Given the description of an element on the screen output the (x, y) to click on. 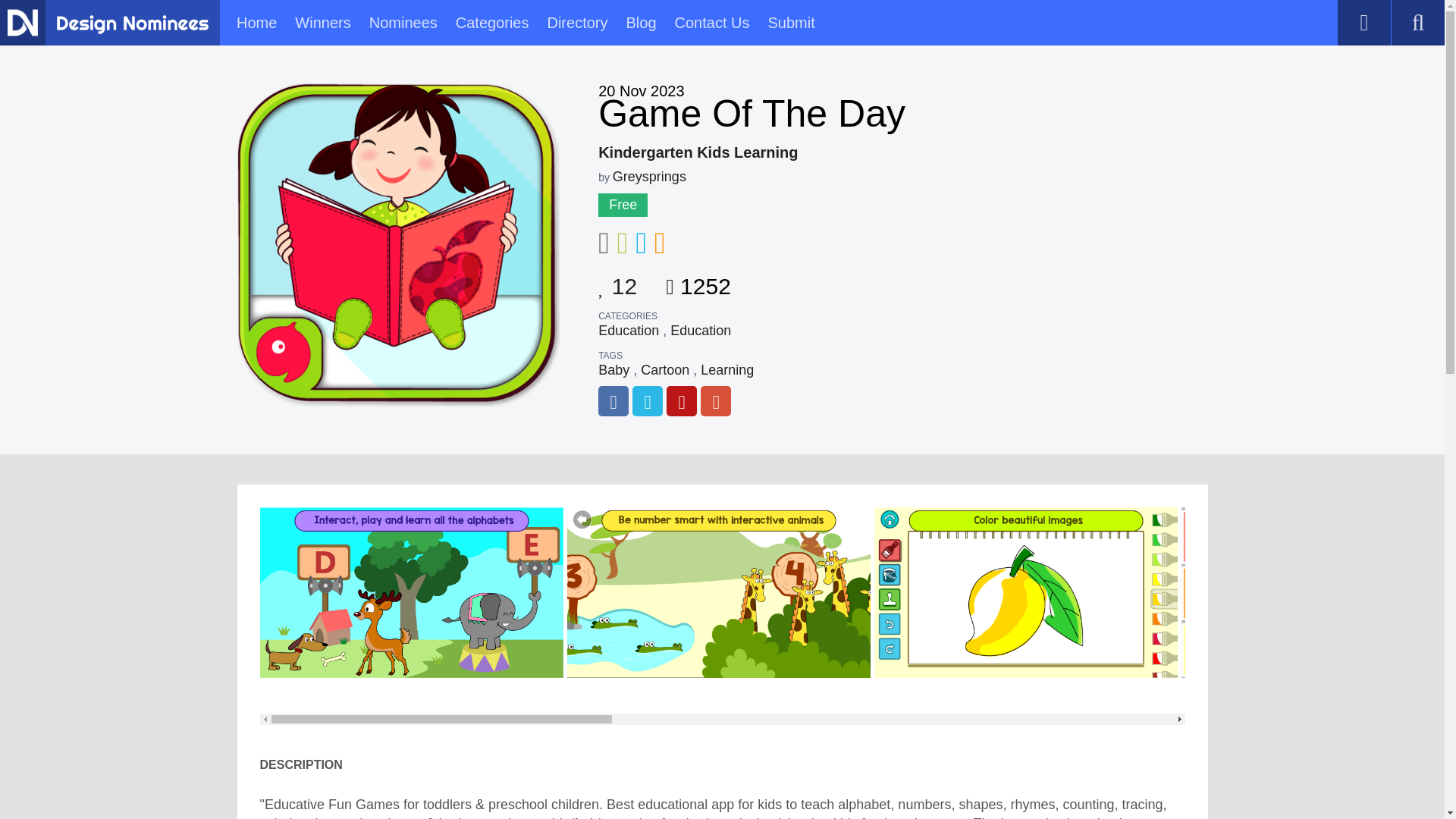
Contact Us (712, 22)
12 (617, 281)
Submit (790, 22)
Baby (613, 369)
Design Nominees (132, 24)
Education (699, 330)
Design Nominees (22, 22)
Nominees (403, 22)
Categories (492, 22)
Winners (322, 22)
Directory (577, 22)
Education (628, 330)
